Given the description of an element on the screen output the (x, y) to click on. 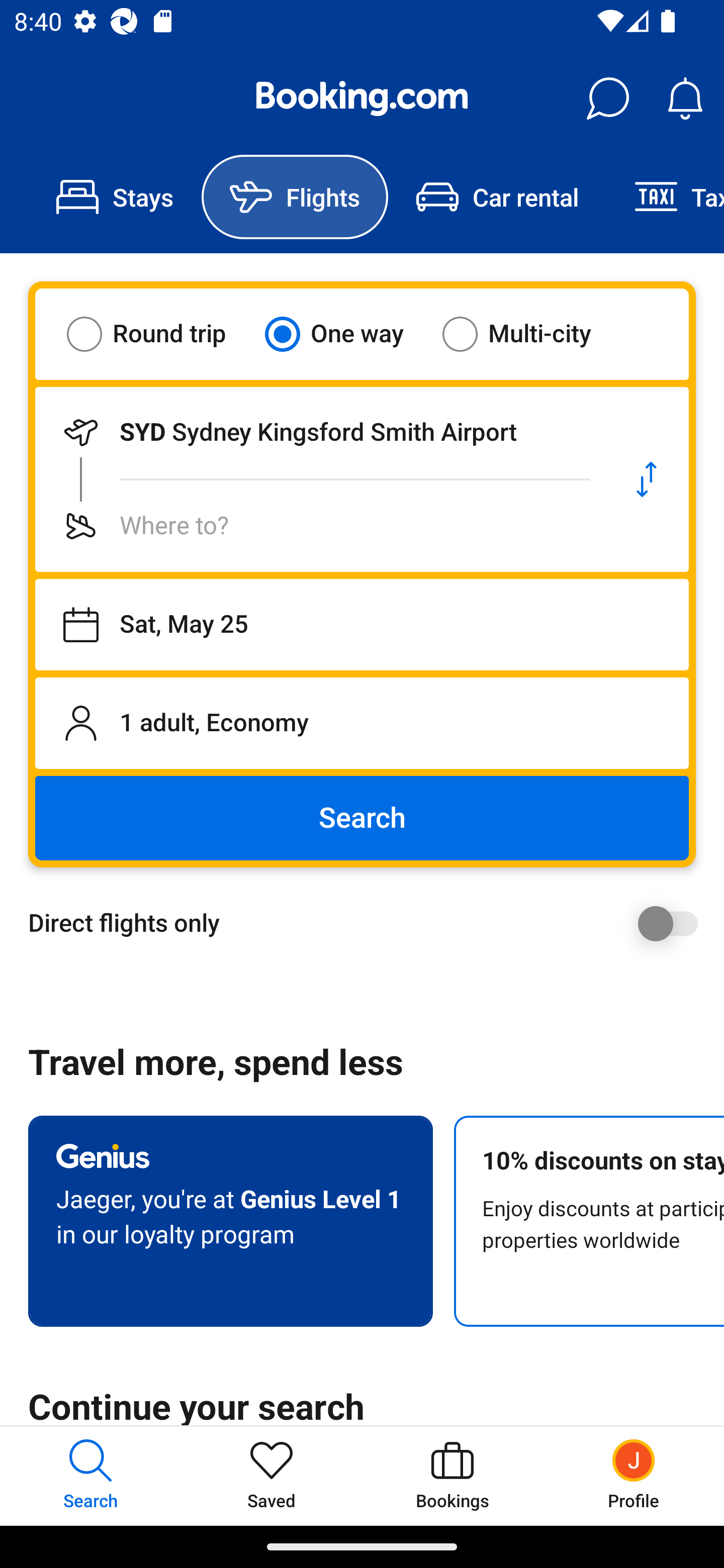
Messages (607, 98)
Notifications (685, 98)
Stays (114, 197)
Flights (294, 197)
Car rental (497, 197)
Taxi (665, 197)
Round trip (158, 333)
Multi-city (528, 333)
Departing from SYD Sydney Kingsford Smith Airport (319, 432)
Swap departure location and destination (646, 479)
Flying to  (319, 525)
Departing on Sat, May 25 (361, 624)
1 adult, Economy (361, 722)
Search (361, 818)
Direct flights only (369, 923)
Saved (271, 1475)
Bookings (452, 1475)
Profile (633, 1475)
